Given the description of an element on the screen output the (x, y) to click on. 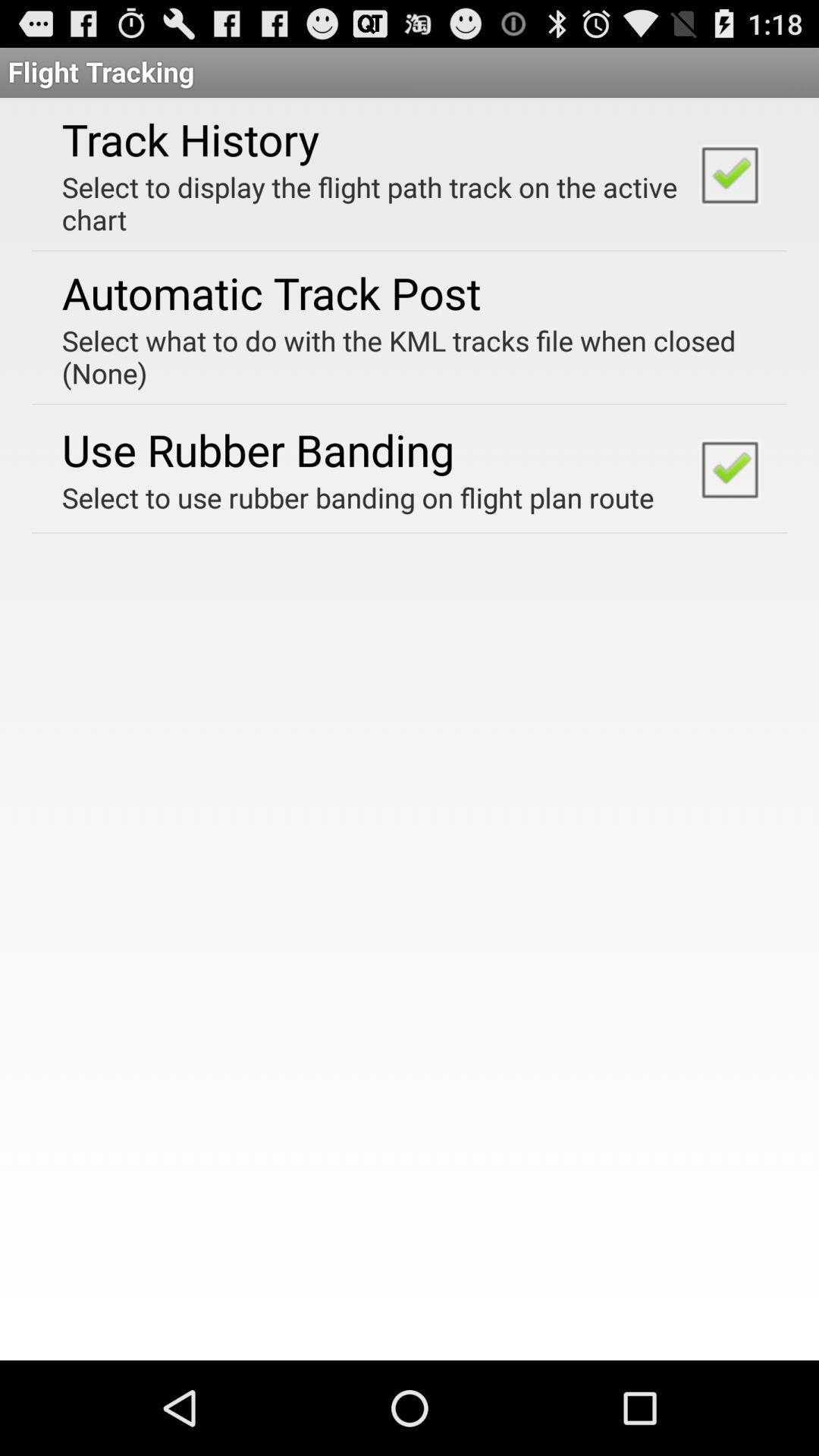
swipe until the automatic track post icon (271, 292)
